Given the description of an element on the screen output the (x, y) to click on. 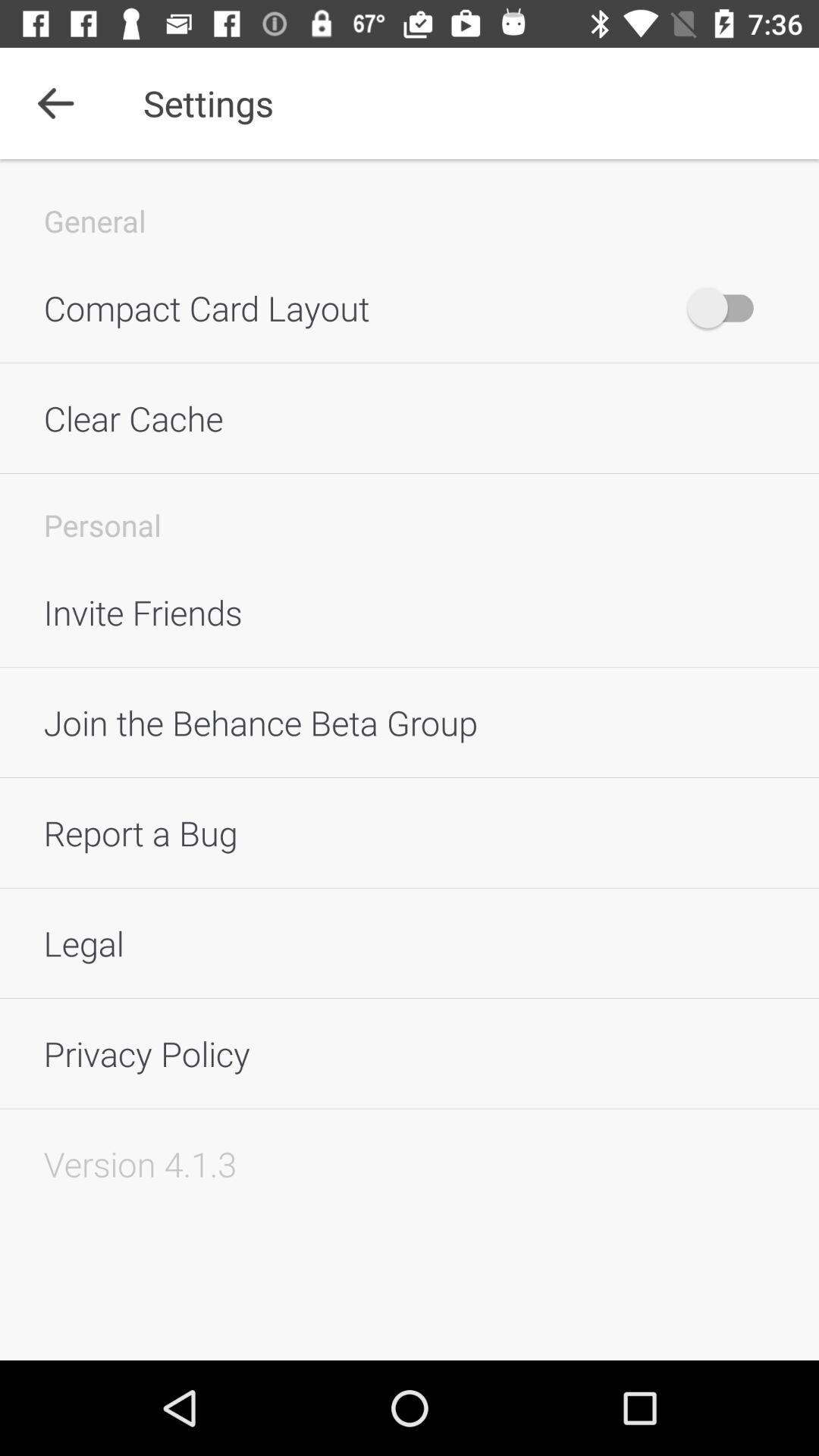
choose the icon below report a bug icon (409, 943)
